Given the description of an element on the screen output the (x, y) to click on. 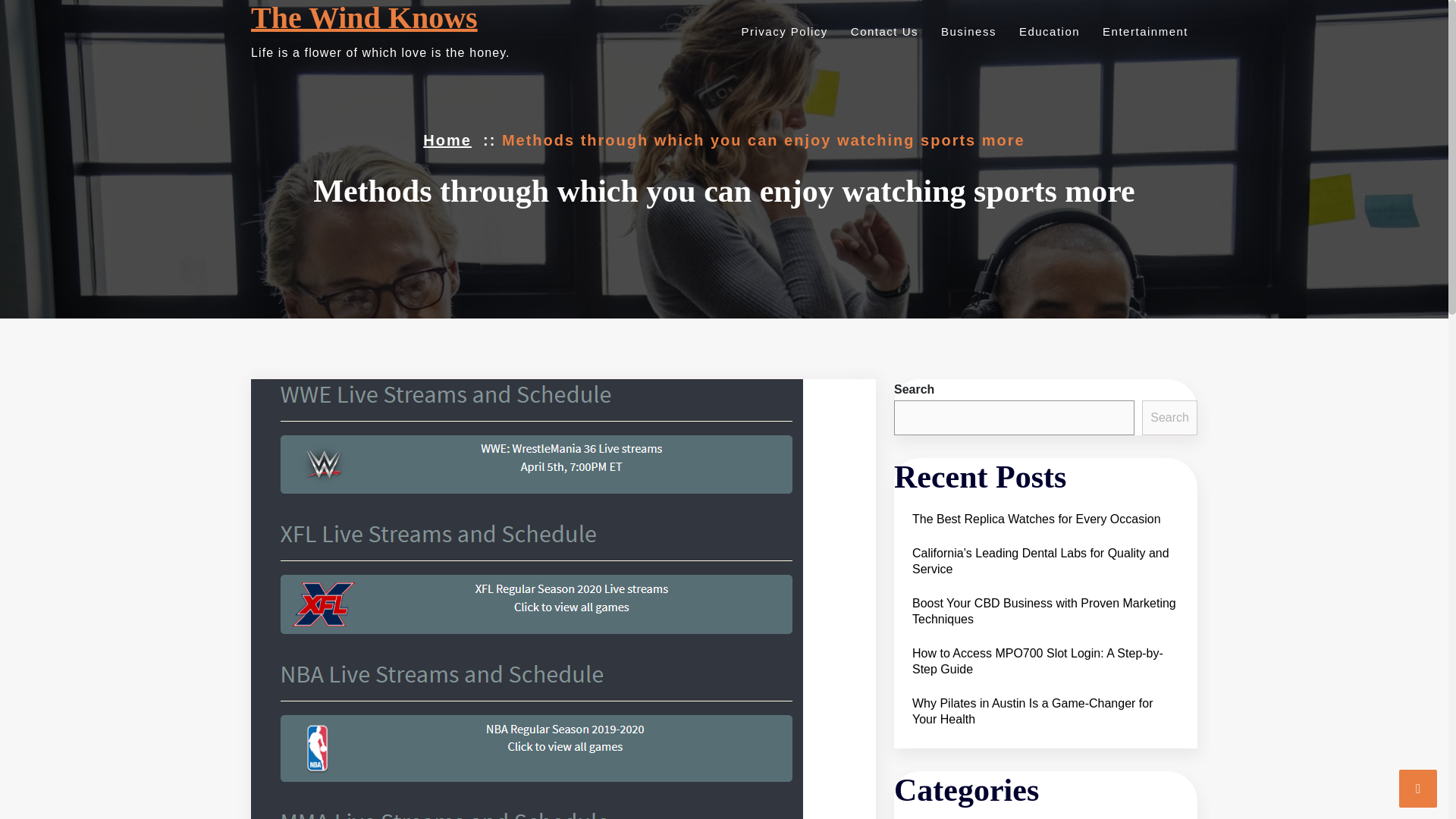
The Best Replica Watches for Every Occasion (1035, 519)
Search (1168, 417)
Home (447, 139)
Business (965, 31)
Entertainment (1142, 31)
Boost Your CBD Business with Proven Marketing Techniques (1045, 610)
How to Access MPO700 Slot Login: A Step-by-Step Guide (1045, 660)
Contact Us (882, 31)
Business (965, 31)
Contact Us (882, 31)
